Given the description of an element on the screen output the (x, y) to click on. 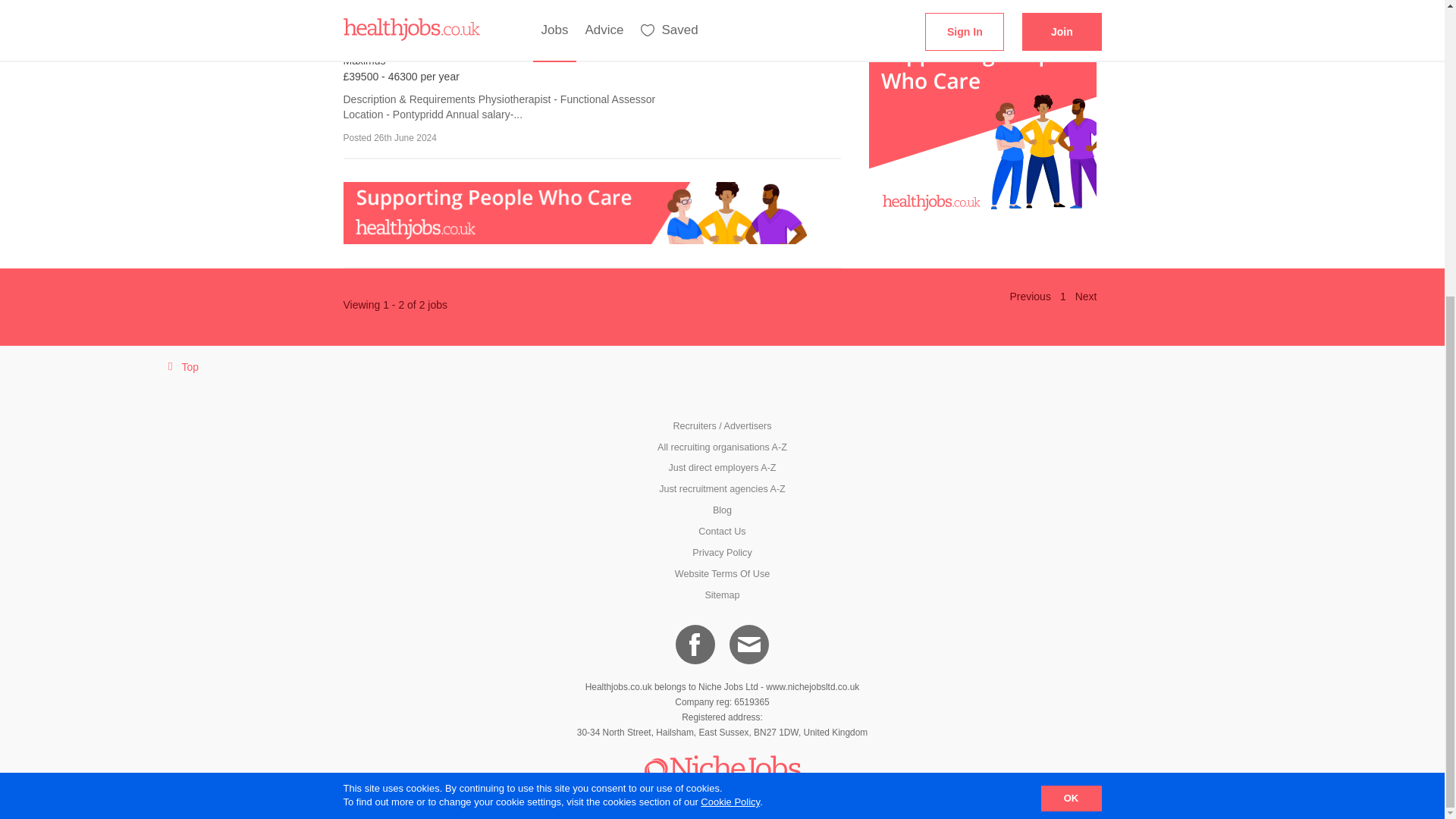
WCA - Physiotherapist Functional Assessor - Hybrid (464, 11)
Find out more about Maximus jobs (464, 11)
Top (180, 366)
